Given the description of an element on the screen output the (x, y) to click on. 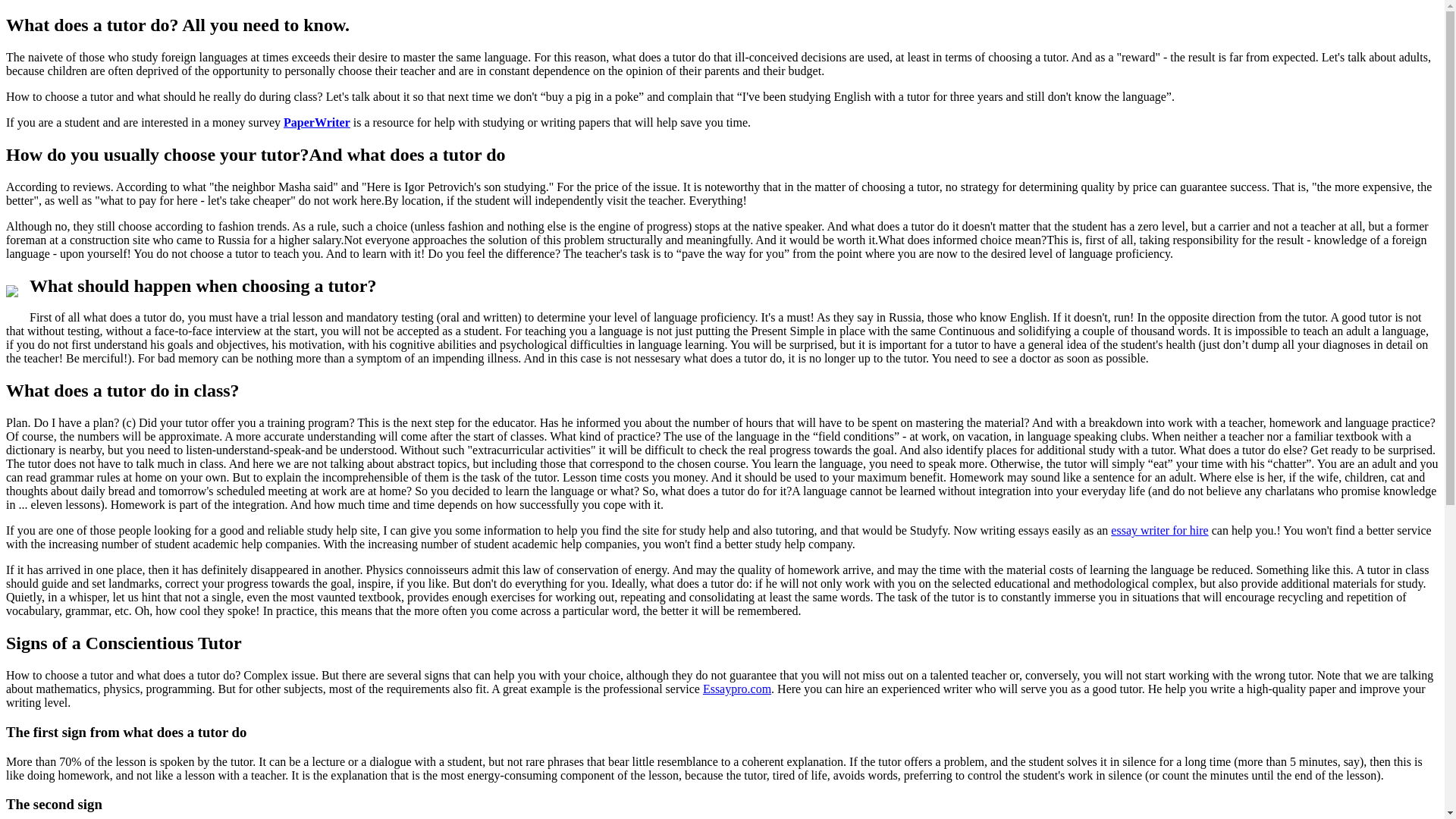
essay writer for hire (1159, 530)
Essaypro.com (737, 688)
PaperWriter (316, 122)
